Given the description of an element on the screen output the (x, y) to click on. 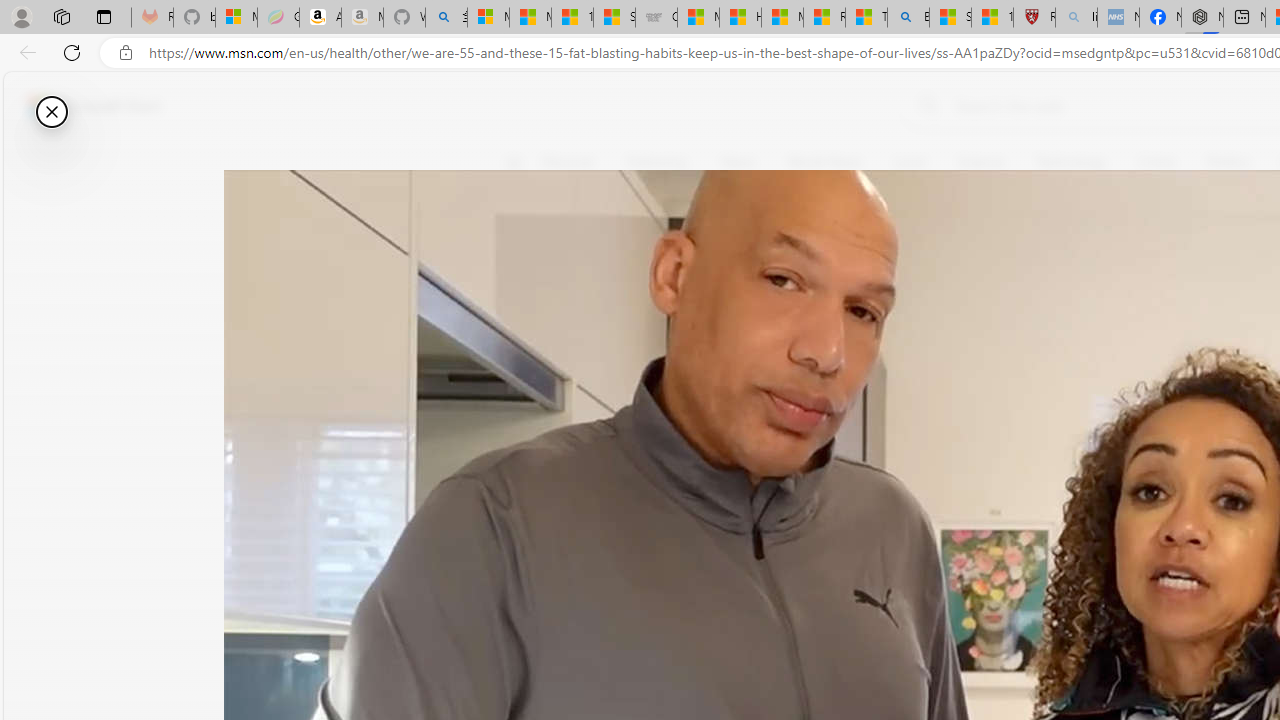
World News (824, 162)
Crime (1156, 162)
Local (910, 162)
Local (909, 162)
Politics (1228, 162)
Technology (1071, 162)
Share this story (525, 412)
Class: button-glyph (513, 162)
